Given the description of an element on the screen output the (x, y) to click on. 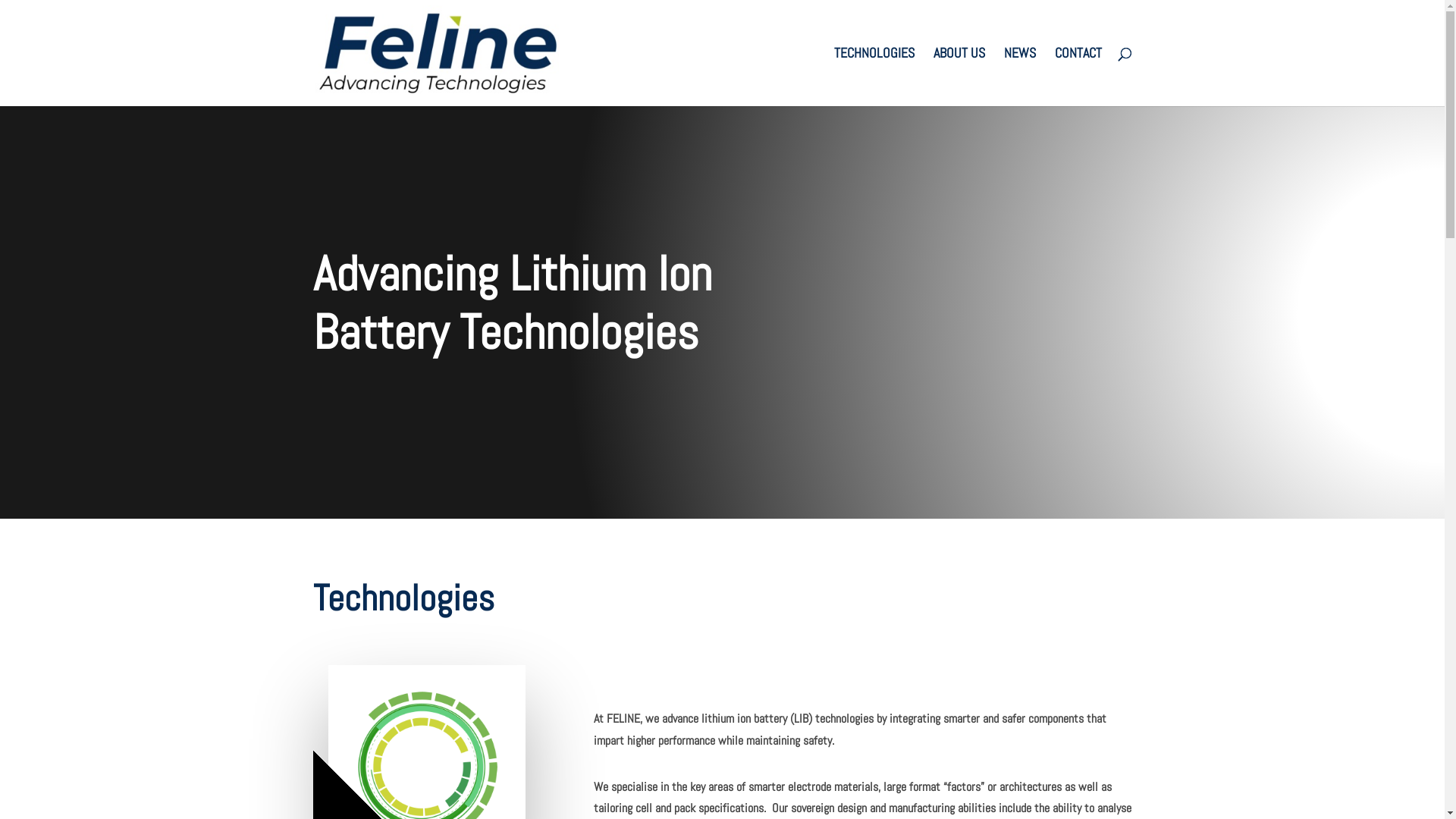
TECHNOLOGIES Element type: text (874, 76)
ABOUT US Element type: text (958, 76)
NEWS Element type: text (1019, 76)
CONTACT Element type: text (1077, 76)
